Given the description of an element on the screen output the (x, y) to click on. 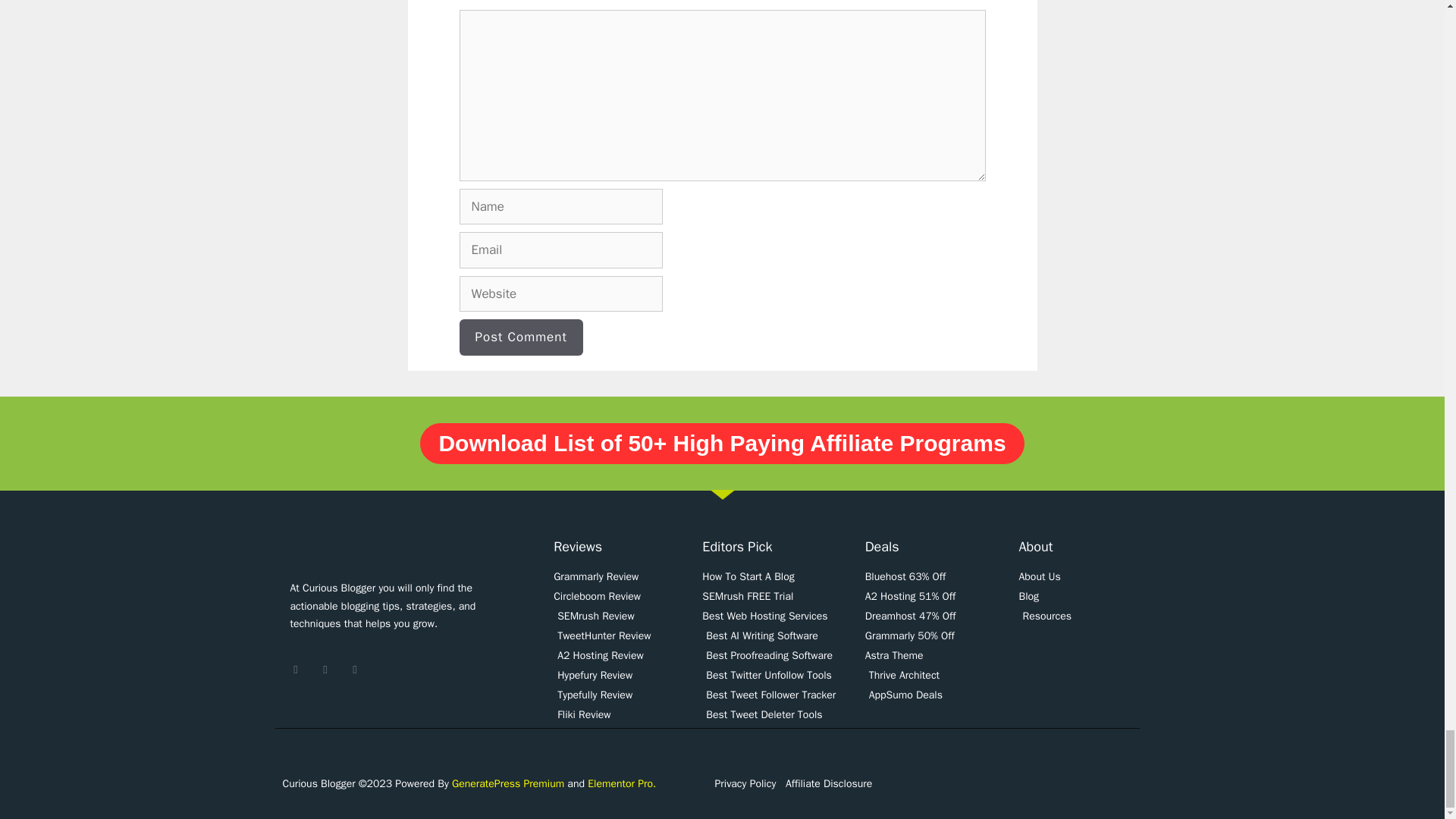
Generatepress (507, 783)
Post Comment (521, 337)
Elementor PRO (622, 783)
